Given the description of an element on the screen output the (x, y) to click on. 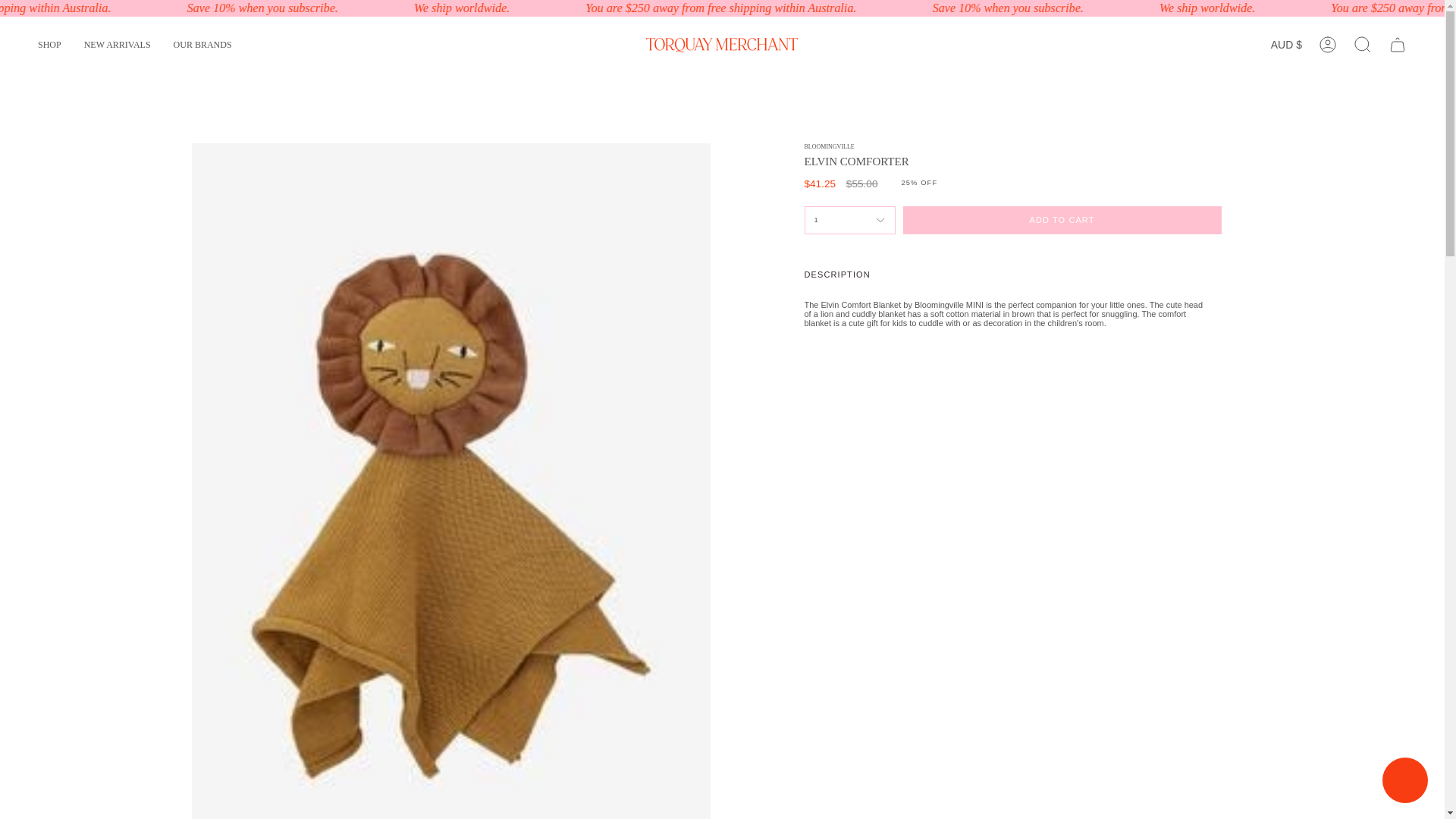
Cart (1397, 44)
Search (1362, 44)
My Account (1327, 44)
